Given the description of an element on the screen output the (x, y) to click on. 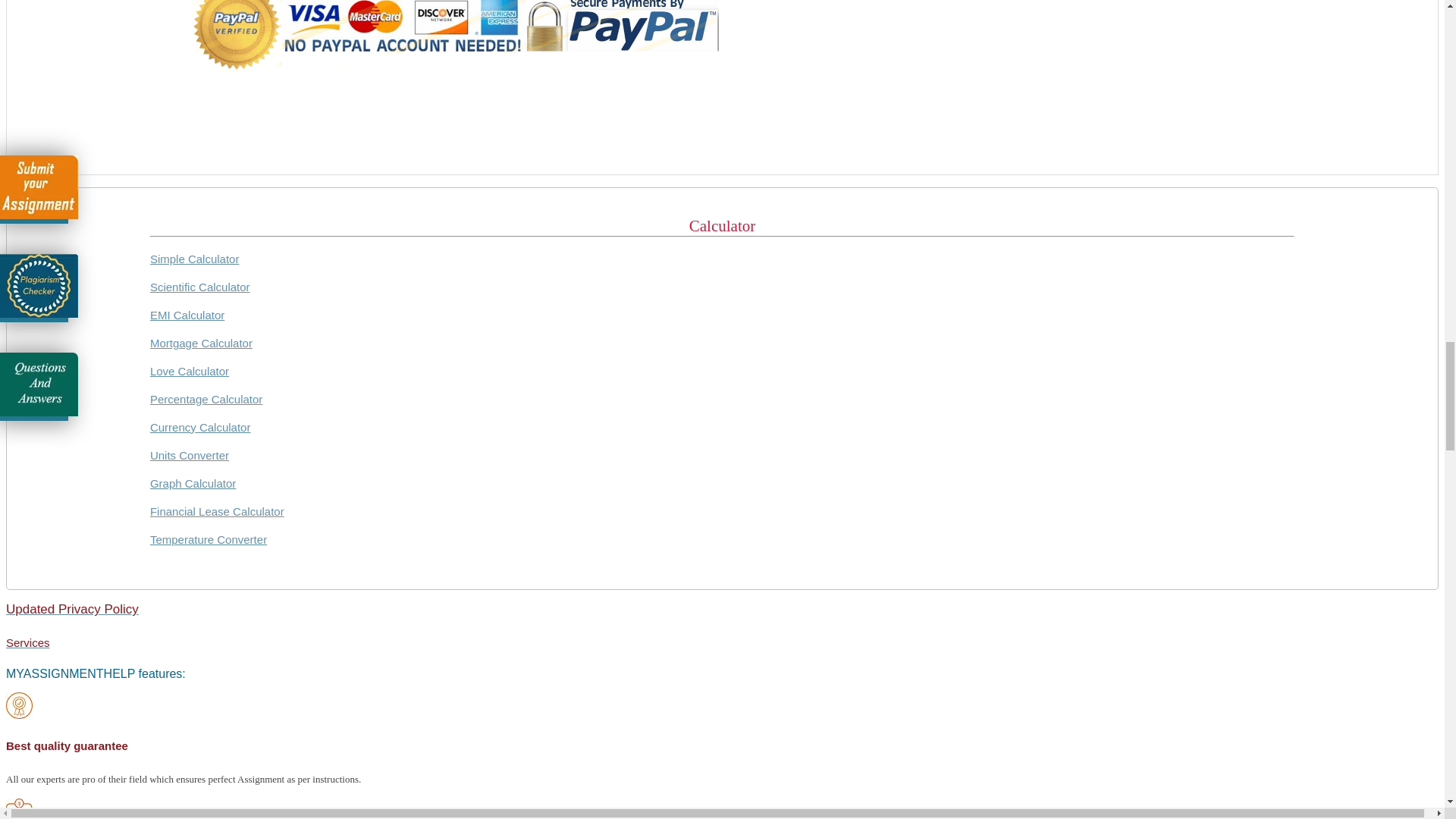
Simple Calculator (194, 258)
